Given the description of an element on the screen output the (x, y) to click on. 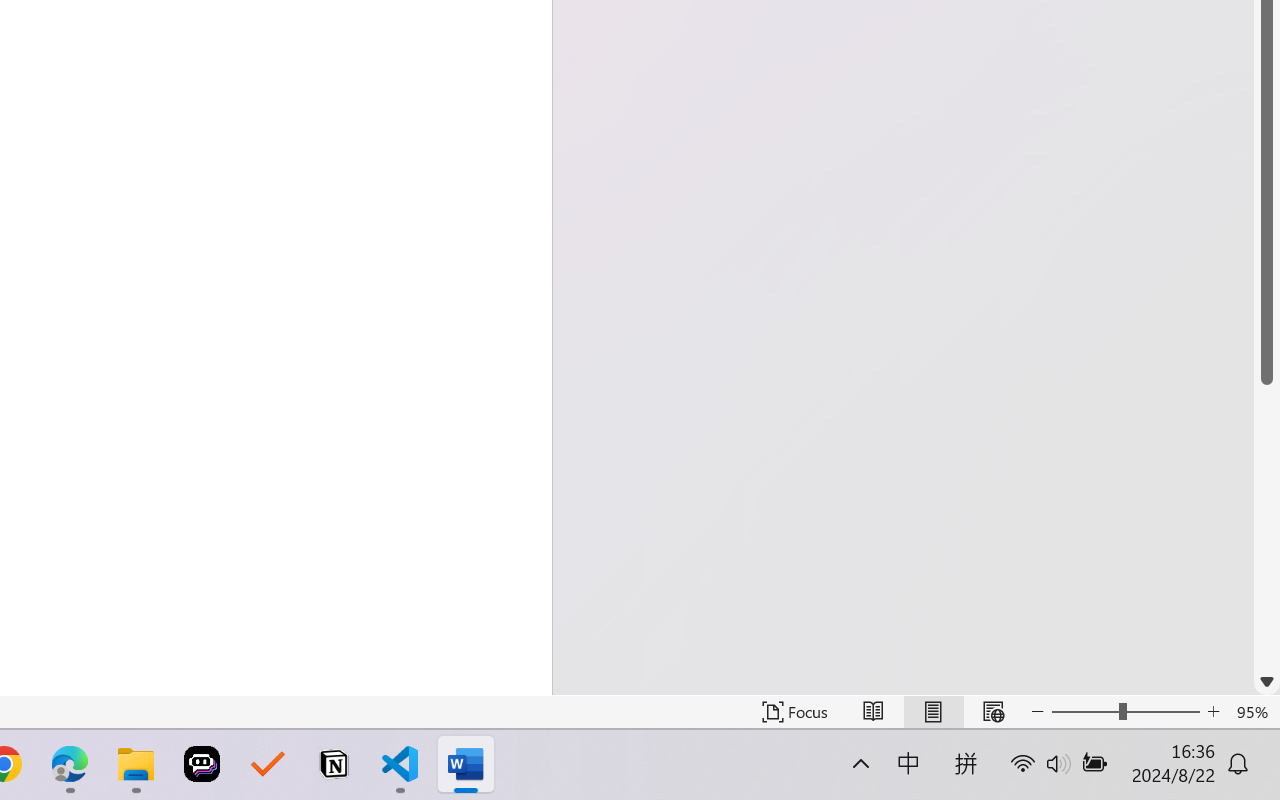
Line down (1267, 681)
Page down (1267, 526)
Zoom 95% (1253, 712)
